Given the description of an element on the screen output the (x, y) to click on. 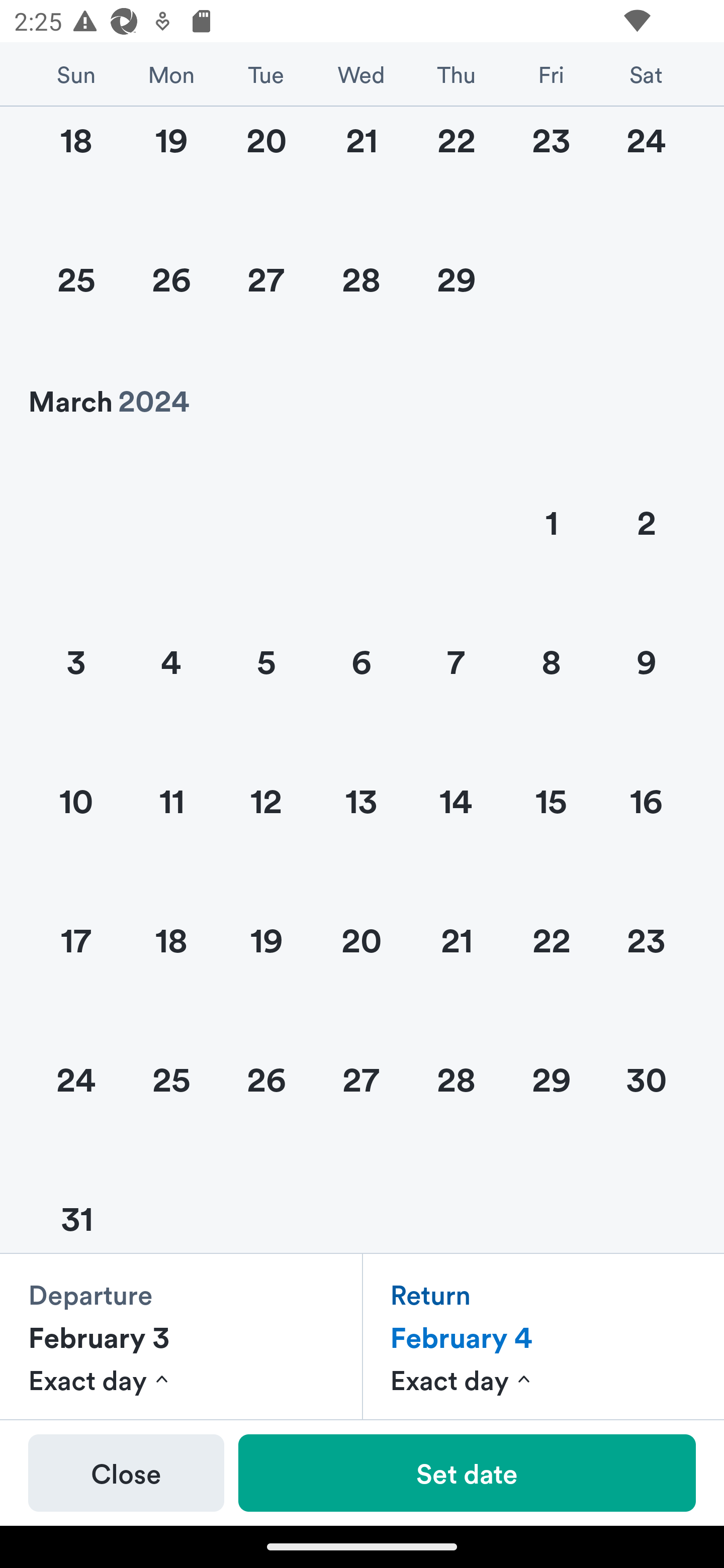
Close (126, 1472)
Set date (466, 1472)
